Given the description of an element on the screen output the (x, y) to click on. 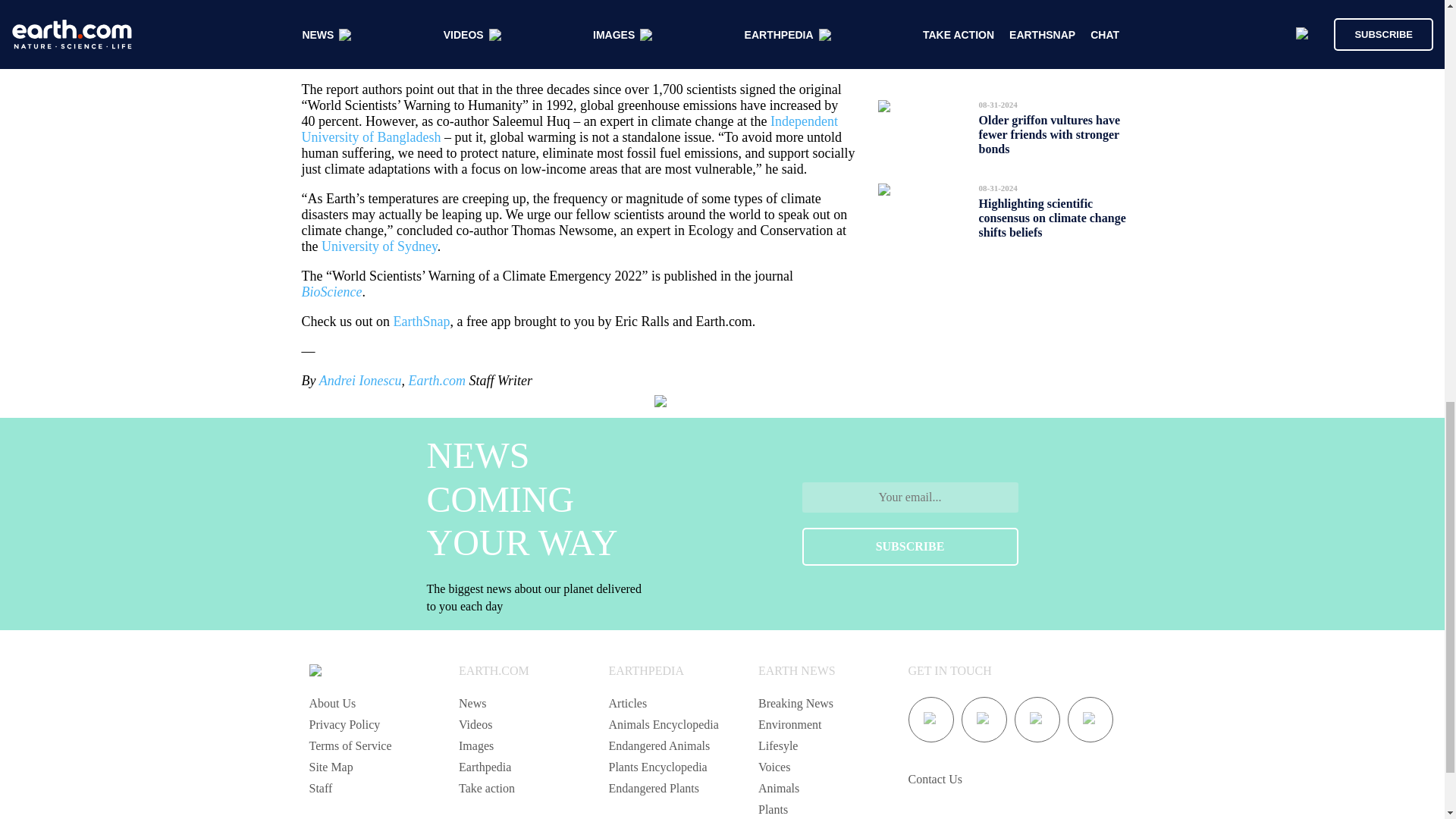
EarthSnap (421, 321)
University of Sydney (379, 246)
Andrei Ionescu (359, 380)
Independent University of Bangladesh (569, 128)
Earth.com (436, 380)
BioScience (331, 291)
AI illuminates fish interactions in coral reefs (1058, 43)
